Given the description of an element on the screen output the (x, y) to click on. 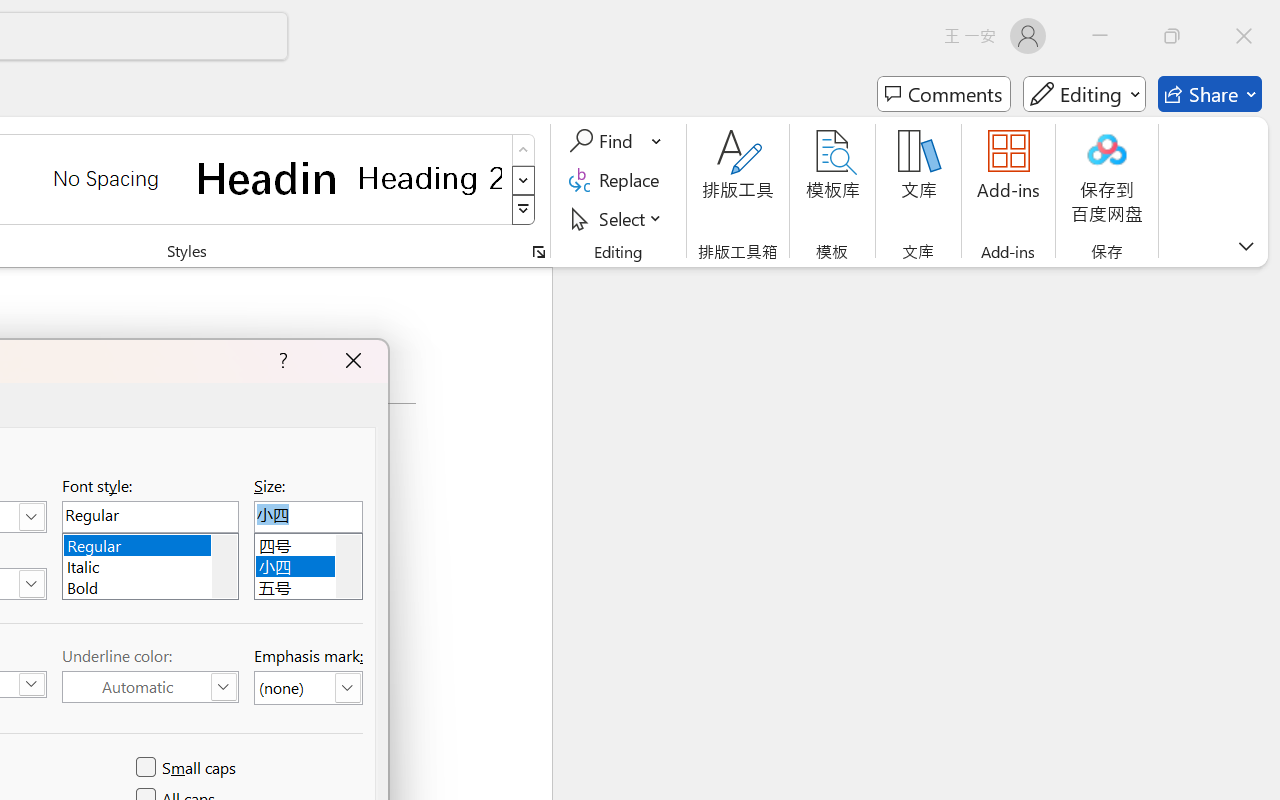
RichEdit Control (308, 516)
Styles... (538, 252)
Select (618, 218)
Small caps (187, 767)
Underline Color (Automatic) (150, 687)
AutomationID: 1795 (223, 566)
